Given the description of an element on the screen output the (x, y) to click on. 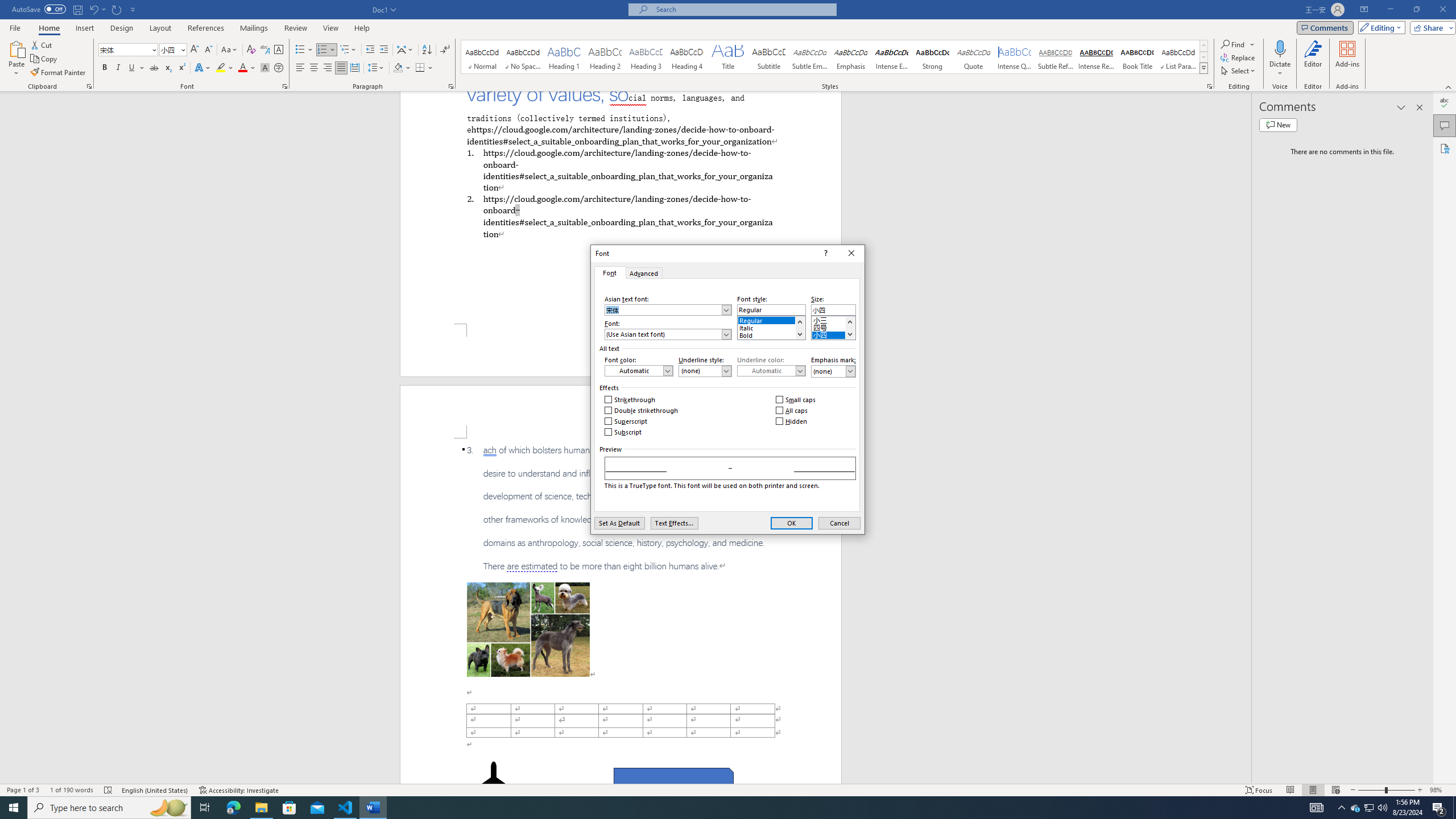
Context help (824, 253)
File Tab (15, 27)
Print Layout (1312, 790)
Decrease Indent (370, 49)
Underline Color (Automatic) (771, 370)
Character Shading (264, 67)
Multilevel List (347, 49)
Accessibility (1444, 147)
Undo Apply Quick Style (96, 9)
References (205, 28)
Spelling and Grammar Check Errors (108, 790)
Replace... (1237, 56)
Layout (160, 28)
Close pane (1419, 107)
Subtle Reference (1055, 56)
